Given the description of an element on the screen output the (x, y) to click on. 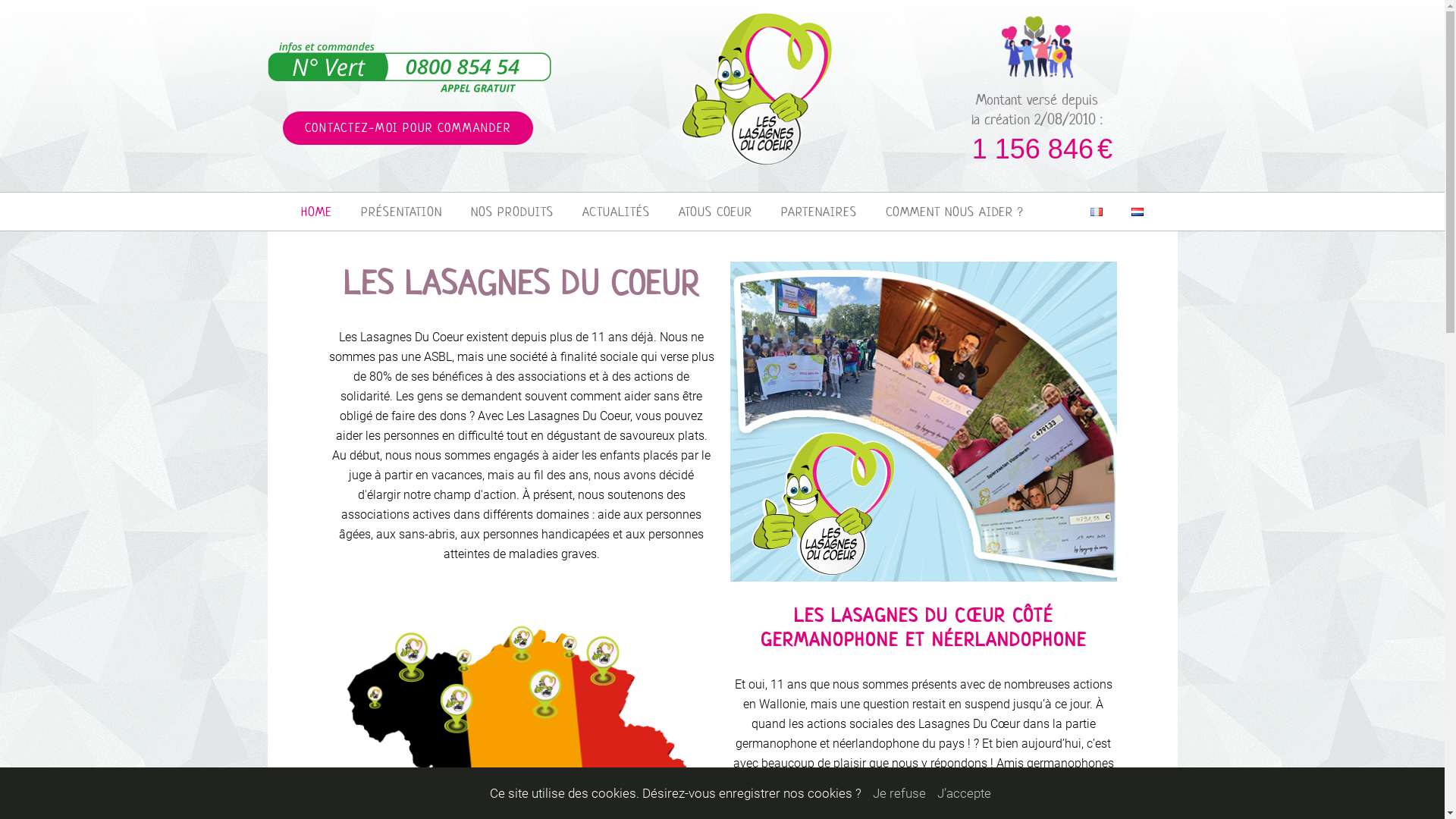
Je refuse Element type: text (898, 792)
NOS PRODUITS Element type: text (511, 211)
PARTENAIRES Element type: text (818, 211)
COMMENT NOUS AIDER ? Element type: text (954, 211)
ATOUS COEUR Element type: text (715, 211)
CONTACTEZ-MOI POUR COMMANDER Element type: text (407, 127)
HOME Element type: text (316, 211)
